Given the description of an element on the screen output the (x, y) to click on. 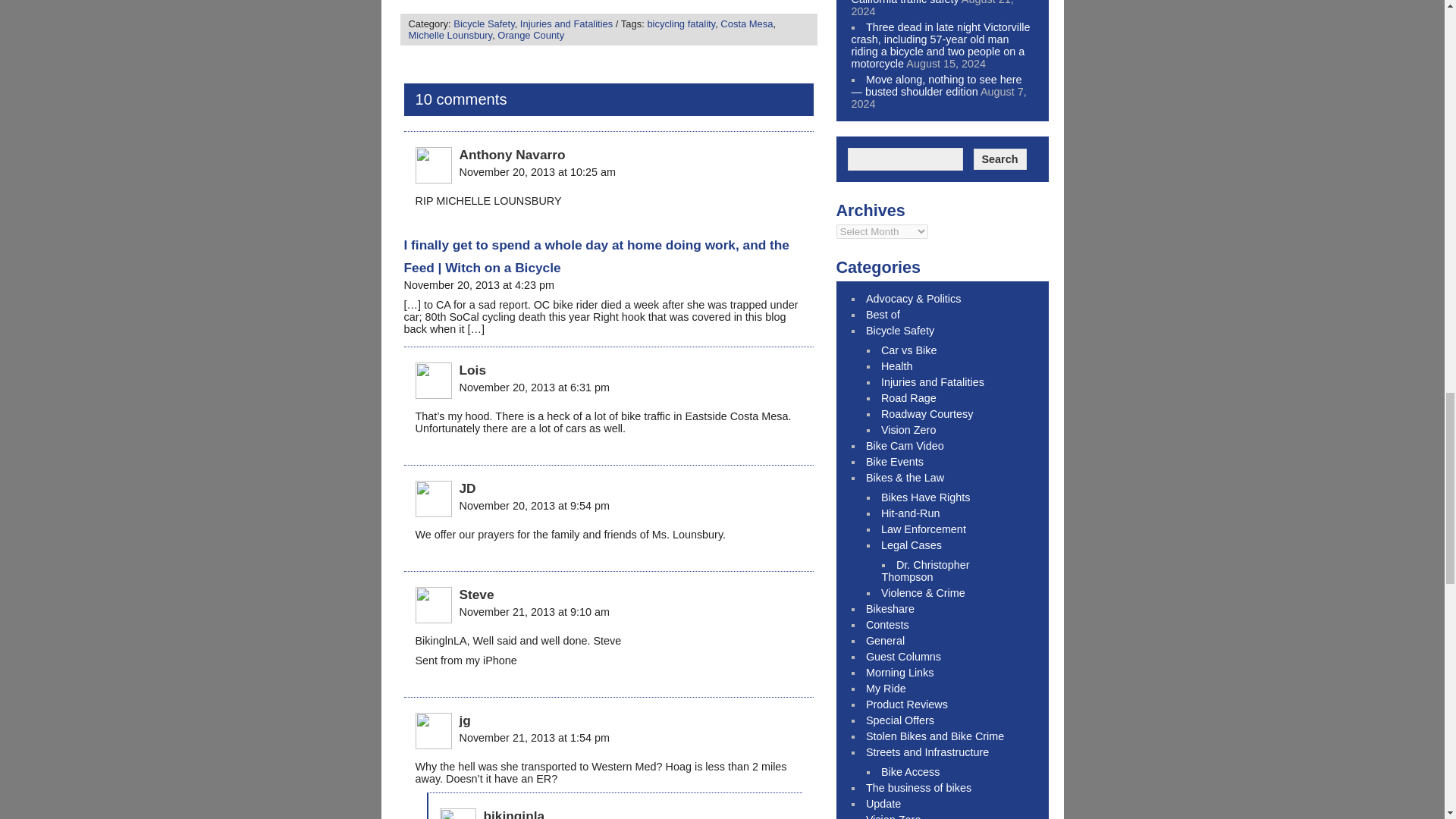
bicycling fatality (680, 23)
Orange County (530, 34)
Injuries and Fatalities (565, 23)
Costa Mesa (746, 23)
Search (1000, 158)
Michelle Lounsbury (449, 34)
Bicycle Safety (482, 23)
November 20, 2013 at 10:25 am (537, 172)
